Given the description of an element on the screen output the (x, y) to click on. 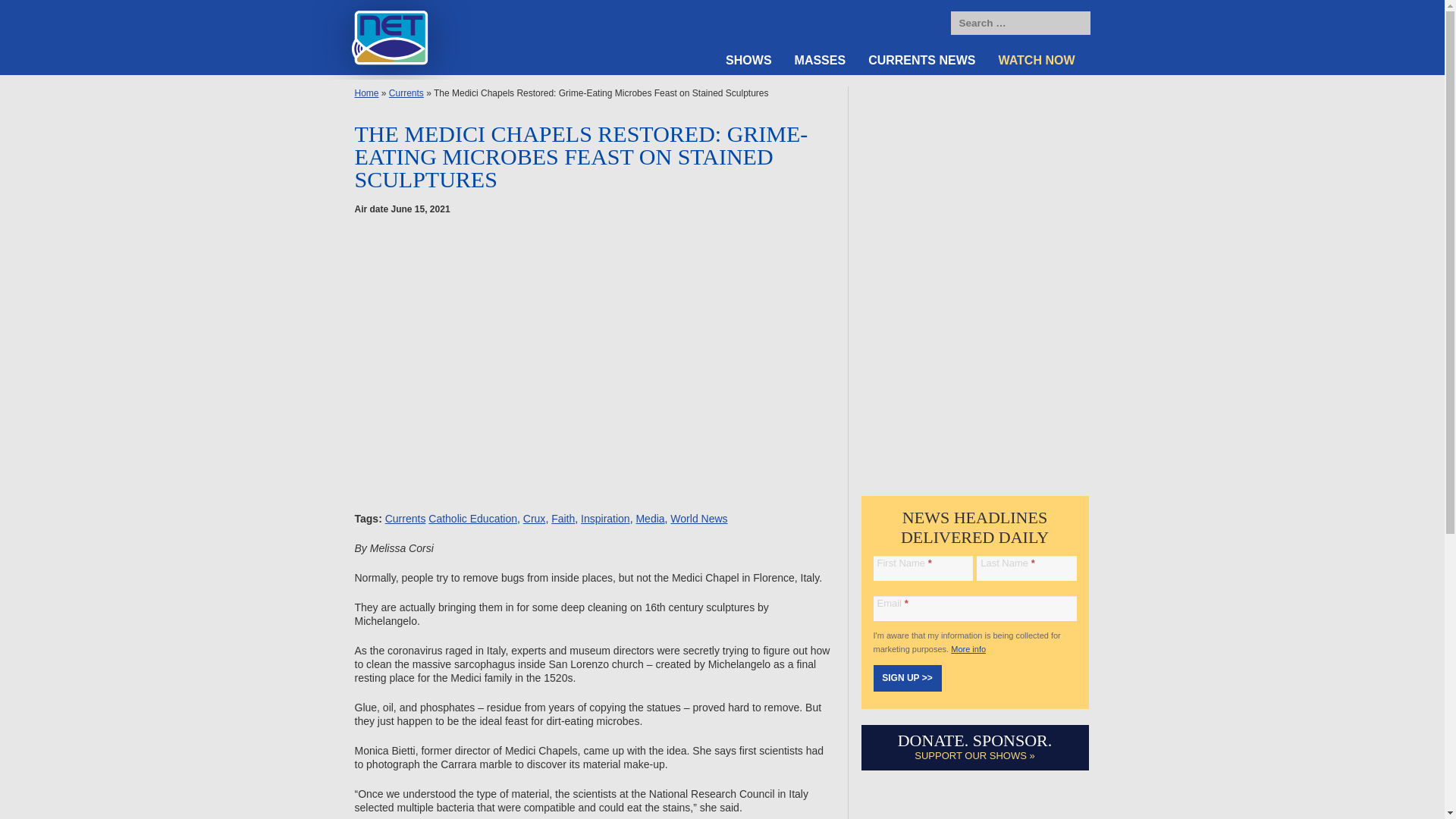
DONATE. SPONSOR. (975, 740)
Currents (405, 92)
Inspiration (605, 518)
Search (1075, 23)
Media (648, 518)
Crux (534, 518)
Currents (405, 518)
More info (967, 648)
MASSES (820, 60)
CURRENTS NEWS (922, 60)
Search (1075, 23)
SHOWS (748, 60)
Search (1075, 23)
Home (366, 92)
WATCH NOW (1038, 60)
